Given the description of an element on the screen output the (x, y) to click on. 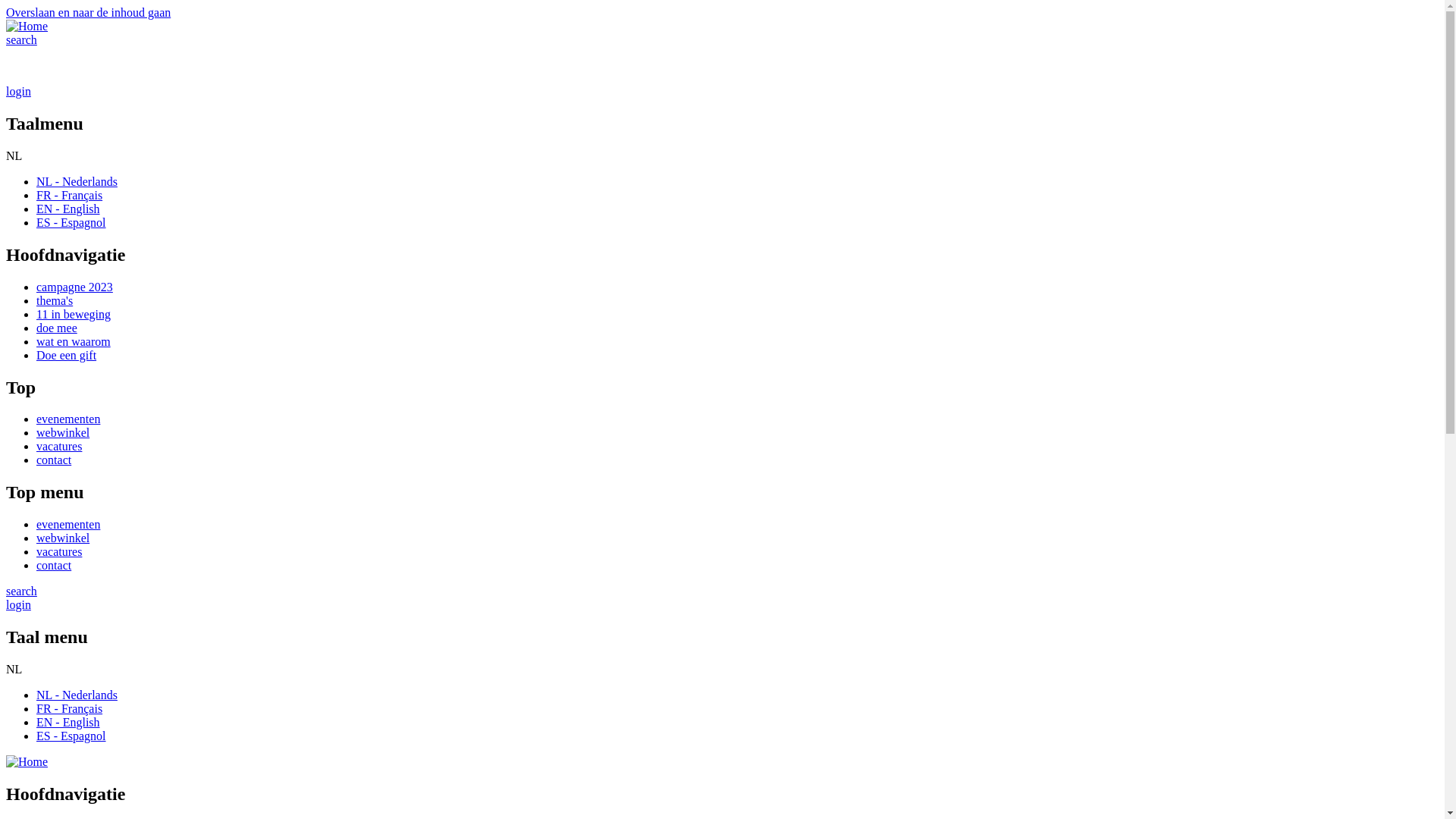
EN - English Element type: text (68, 721)
contact Element type: text (53, 564)
EN - English Element type: text (68, 208)
thema's Element type: text (54, 300)
wat en waarom Element type: text (73, 341)
Overslaan en naar de inhoud gaan Element type: text (88, 12)
campagne 2023 Element type: text (74, 286)
vacatures Element type: text (58, 445)
webwinkel Element type: text (62, 537)
evenementen Element type: text (68, 418)
Doe een gift Element type: text (66, 354)
evenementen Element type: text (68, 523)
ES - Espagnol Element type: text (71, 735)
ES - Espagnol Element type: text (71, 222)
contact Element type: text (53, 459)
vacatures Element type: text (58, 551)
doe mee Element type: text (56, 327)
NL - Nederlands Element type: text (76, 181)
search Element type: text (21, 590)
NL - Nederlands Element type: text (76, 694)
login Element type: text (18, 604)
webwinkel Element type: text (62, 432)
search Element type: text (21, 39)
login Element type: text (18, 90)
11 in beweging Element type: text (73, 313)
